Given the description of an element on the screen output the (x, y) to click on. 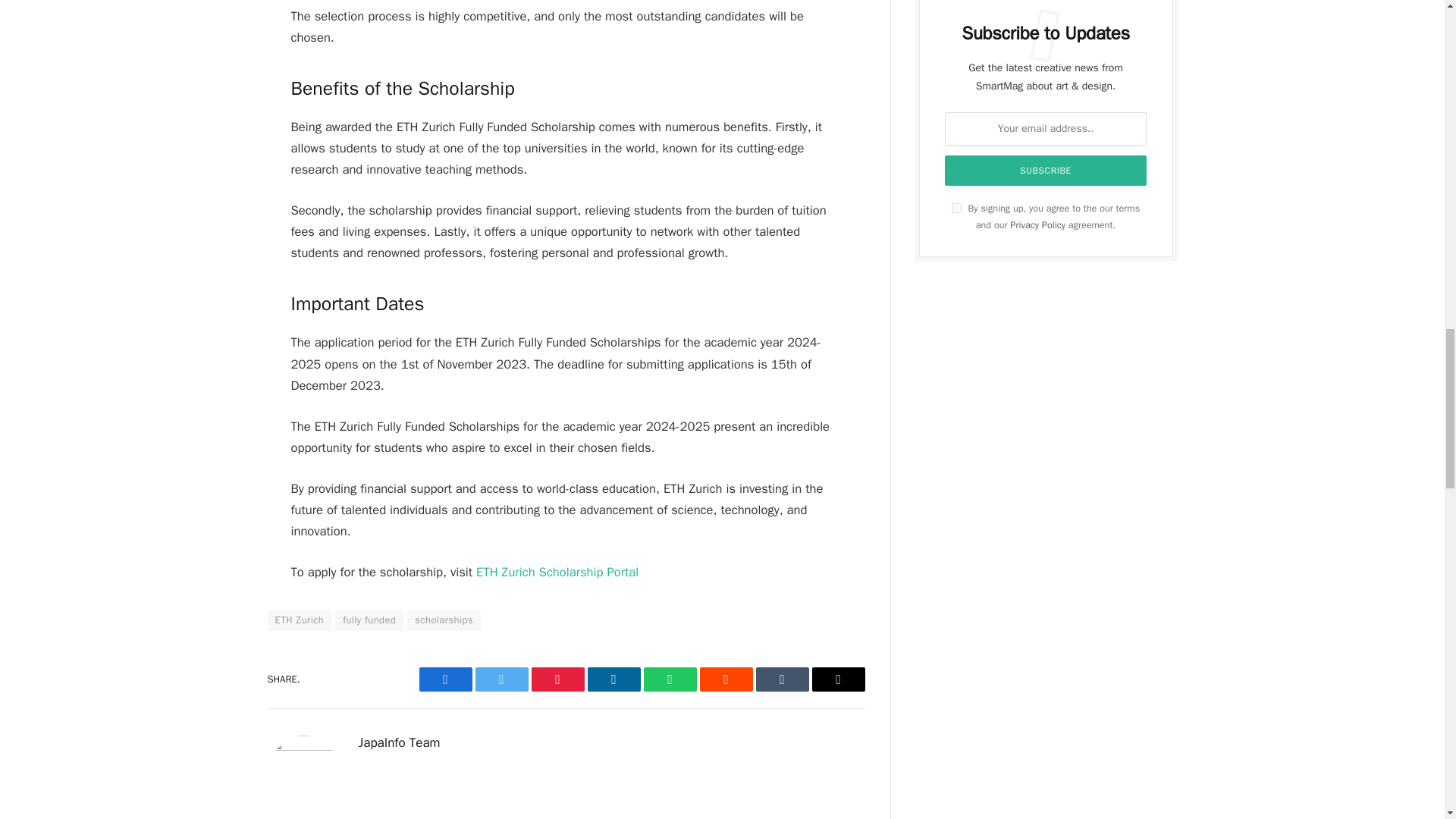
Share on LinkedIn (613, 679)
Share on Reddit (725, 679)
on (956, 207)
Subscribe (1045, 170)
Share on Facebook (445, 679)
Share on WhatsApp (669, 679)
Share on Pinterest (557, 679)
